Given the description of an element on the screen output the (x, y) to click on. 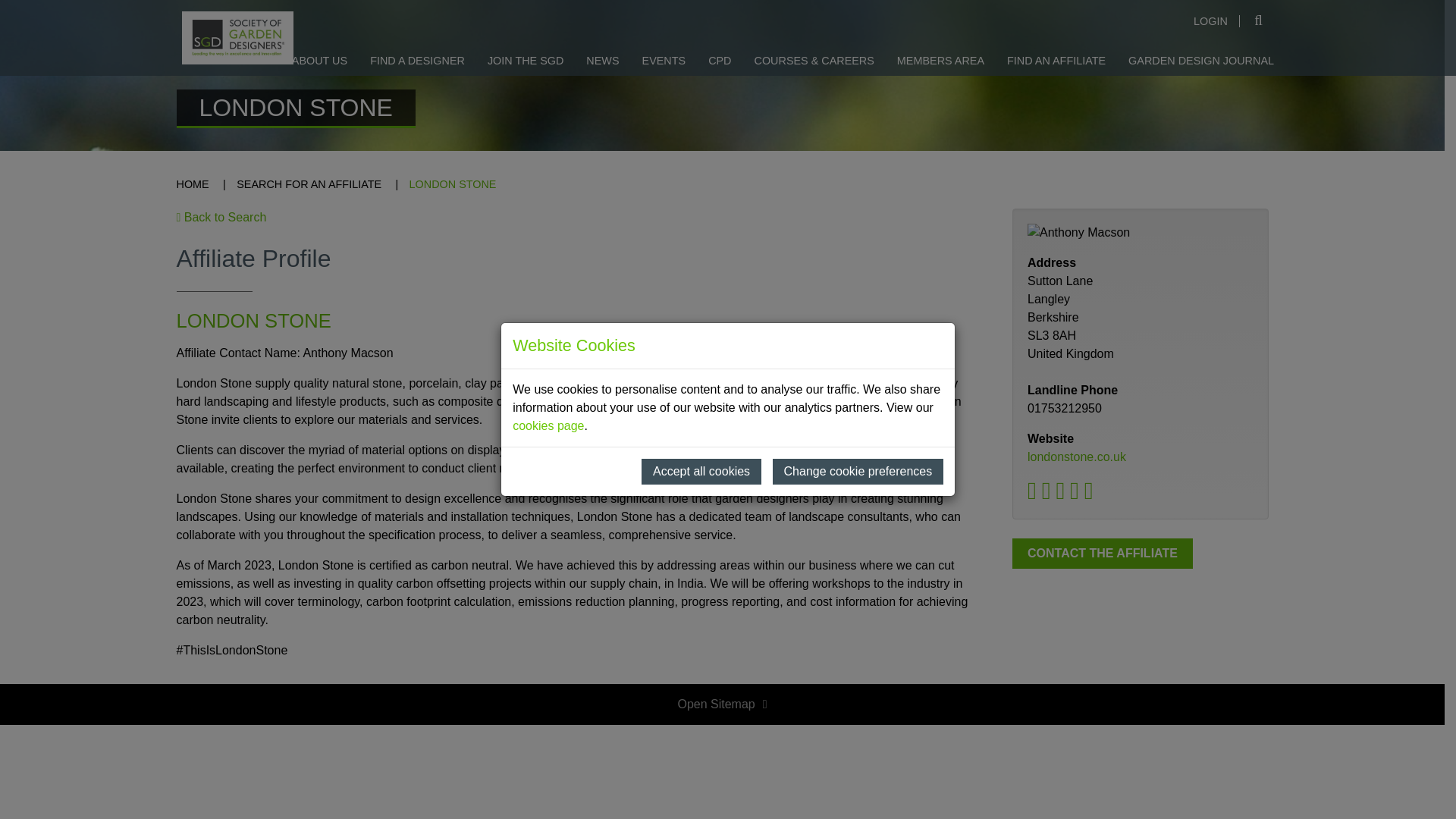
LinkedIn (1049, 494)
Accept all cookies (701, 387)
Change cookie preferences (858, 387)
cookies page (547, 341)
Instagram (1091, 494)
Accept all cookies (701, 387)
Anthony Macson (1140, 232)
Twitter (1034, 494)
Pinterest (1077, 494)
londonstone.co.uk (1076, 456)
Facebook (1062, 494)
